Given the description of an element on the screen output the (x, y) to click on. 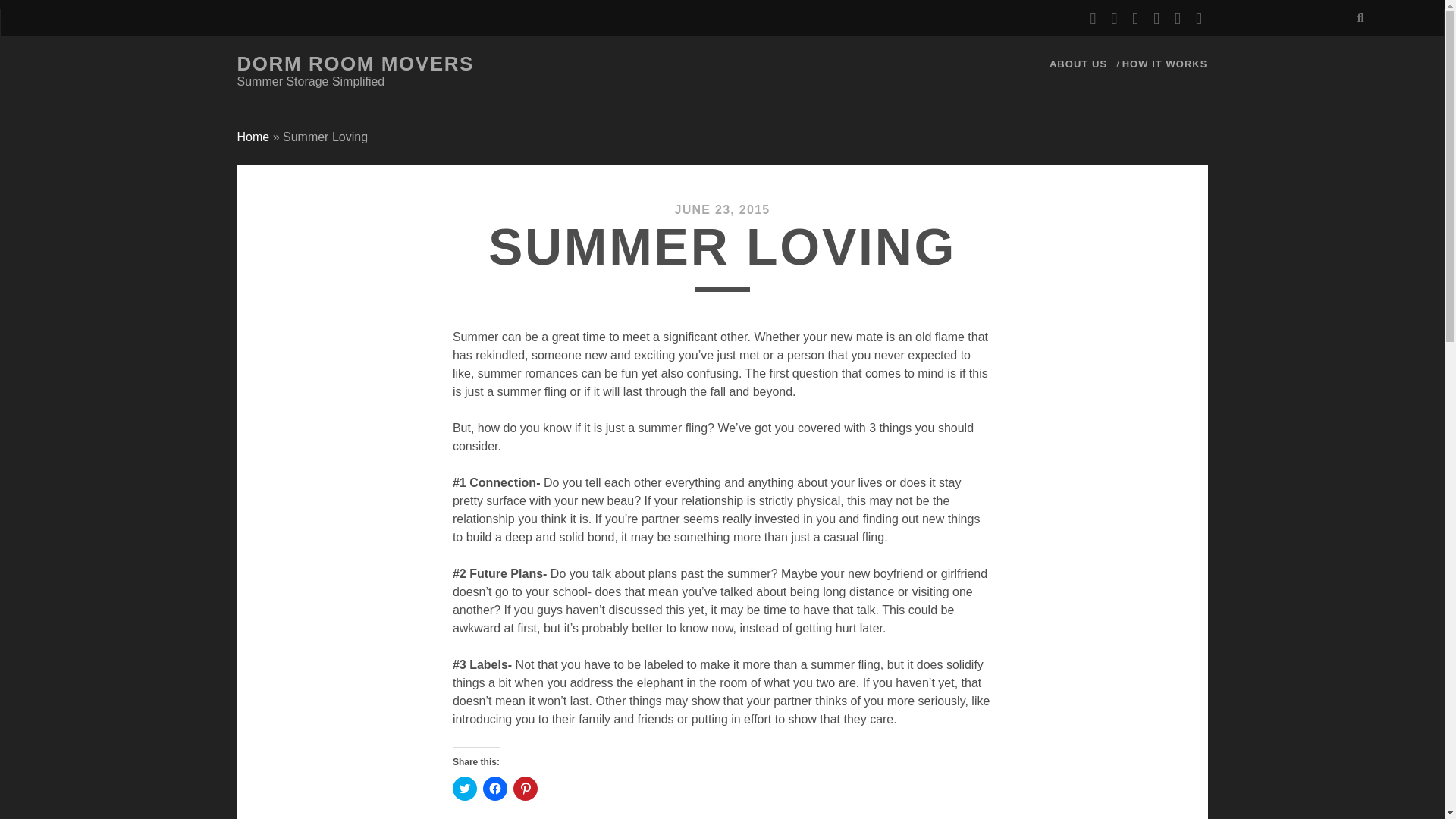
HOW IT WORKS (1165, 64)
Click to share on Facebook (494, 788)
Click to share on Pinterest (525, 788)
ABOUT US (1077, 64)
Home (252, 136)
Click to share on Twitter (464, 788)
DORM ROOM MOVERS (354, 63)
